Given the description of an element on the screen output the (x, y) to click on. 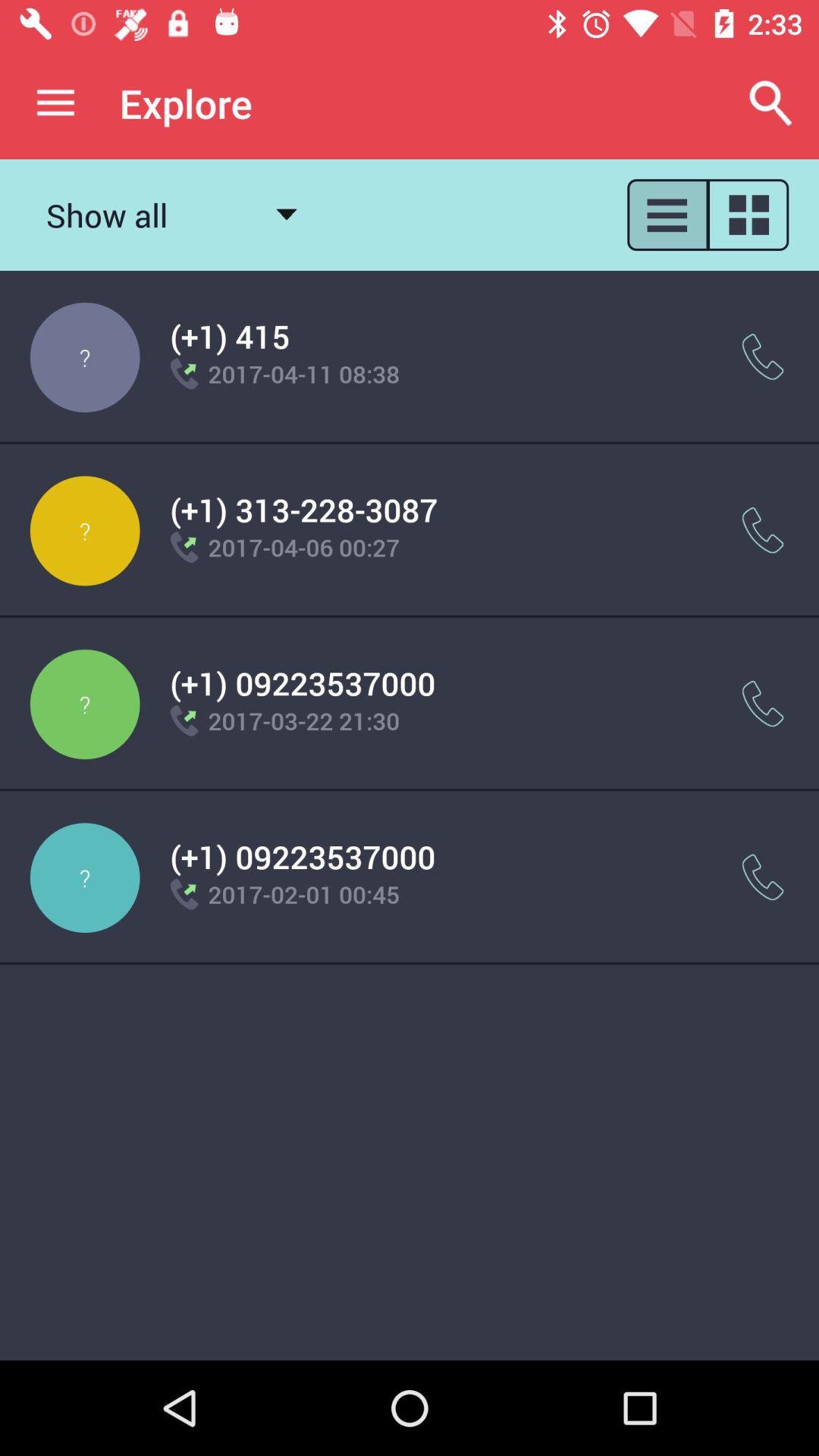
turn on the item next to the (+1) 09223537000 item (762, 877)
